Given the description of an element on the screen output the (x, y) to click on. 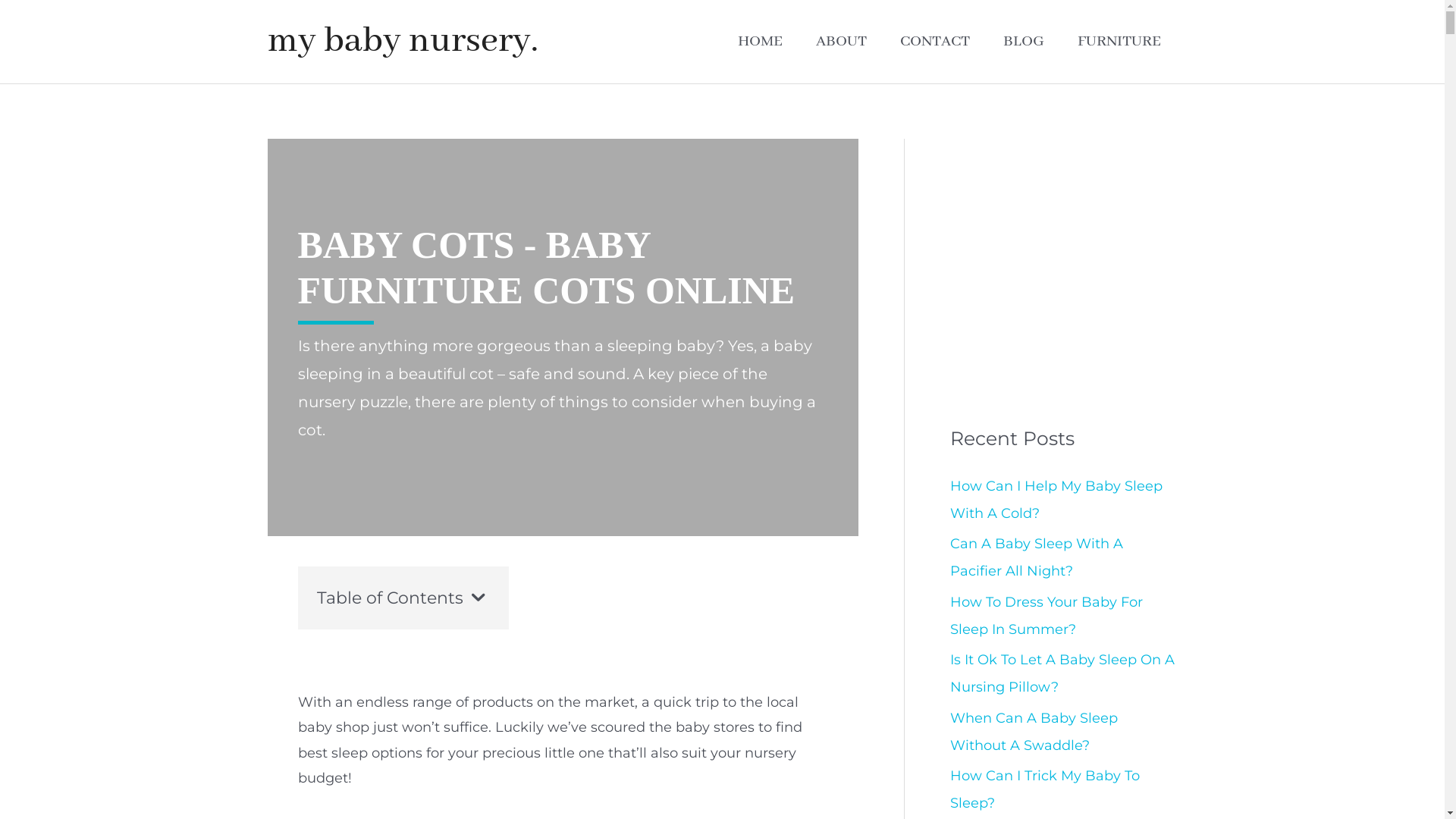
FURNITURE Element type: text (1118, 41)
my baby nursery. Element type: text (401, 40)
How To Dress Your Baby For Sleep In Summer? Element type: text (1045, 615)
How Can I Trick My Baby To Sleep? Element type: text (1044, 789)
HOME Element type: text (759, 41)
Can A Baby Sleep With A Pacifier All Night? Element type: text (1035, 557)
BLOG Element type: text (1022, 41)
CONTACT Element type: text (933, 41)
ABOUT Element type: text (841, 41)
How Can I Help My Baby Sleep With A Cold? Element type: text (1055, 499)
Is It Ok To Let A Baby Sleep On A Nursing Pillow? Element type: text (1061, 673)
When Can A Baby Sleep Without A Swaddle? Element type: text (1033, 731)
